Given the description of an element on the screen output the (x, y) to click on. 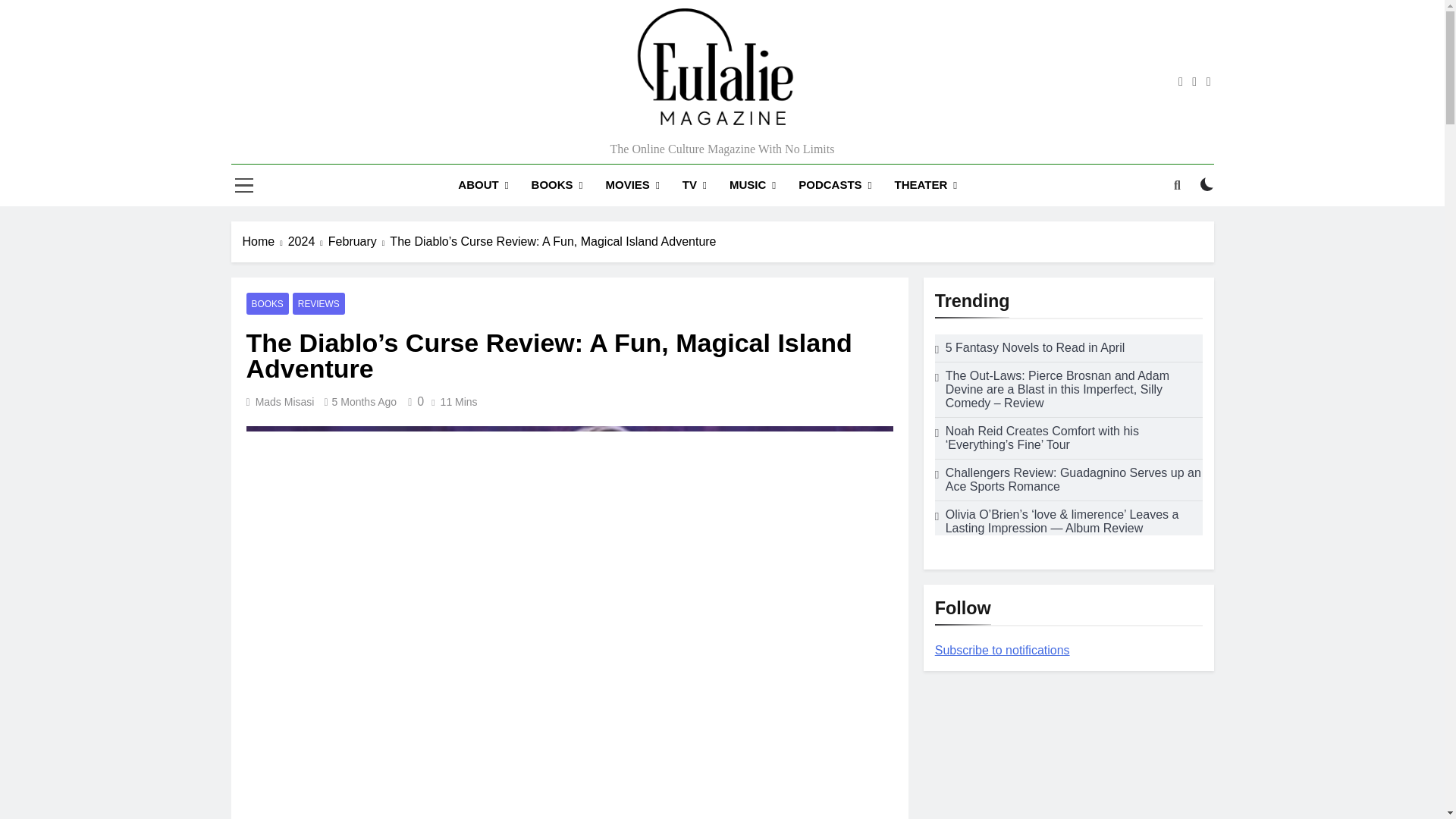
on (1206, 183)
ABOUT (482, 185)
